Given the description of an element on the screen output the (x, y) to click on. 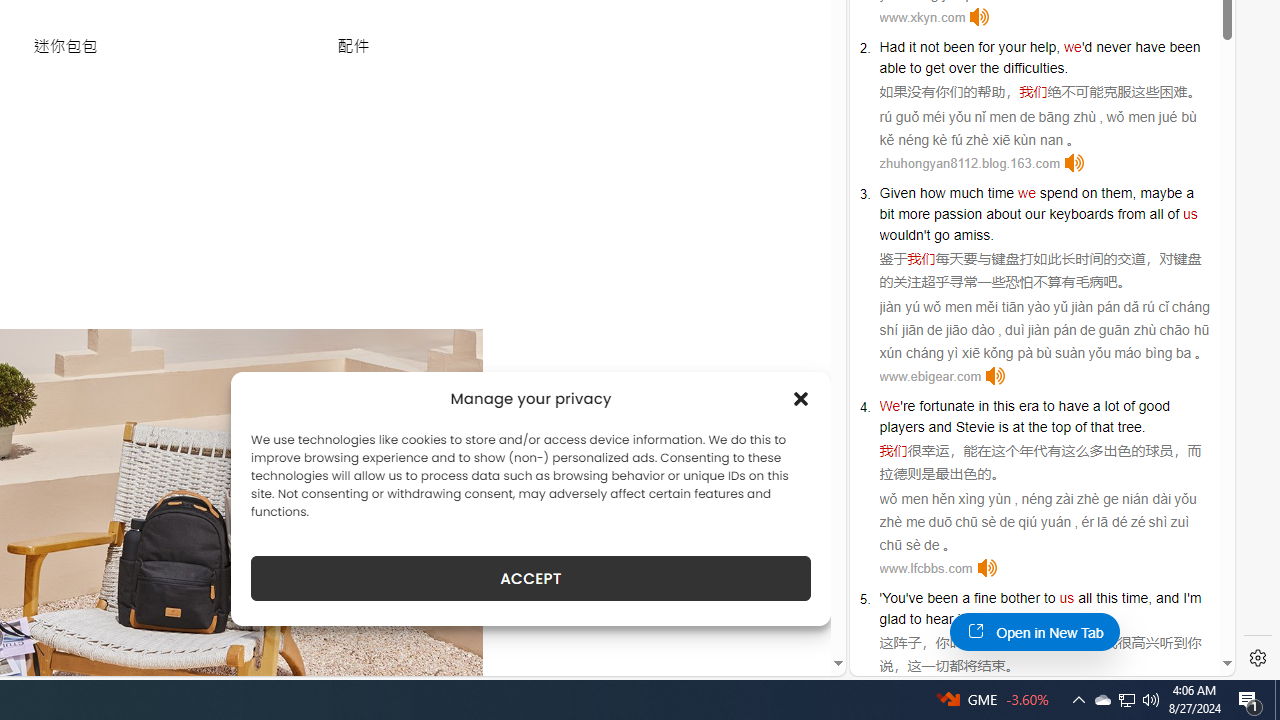
keyboards (1081, 213)
of (1173, 213)
ACCEPT (530, 578)
